Given the description of an element on the screen output the (x, y) to click on. 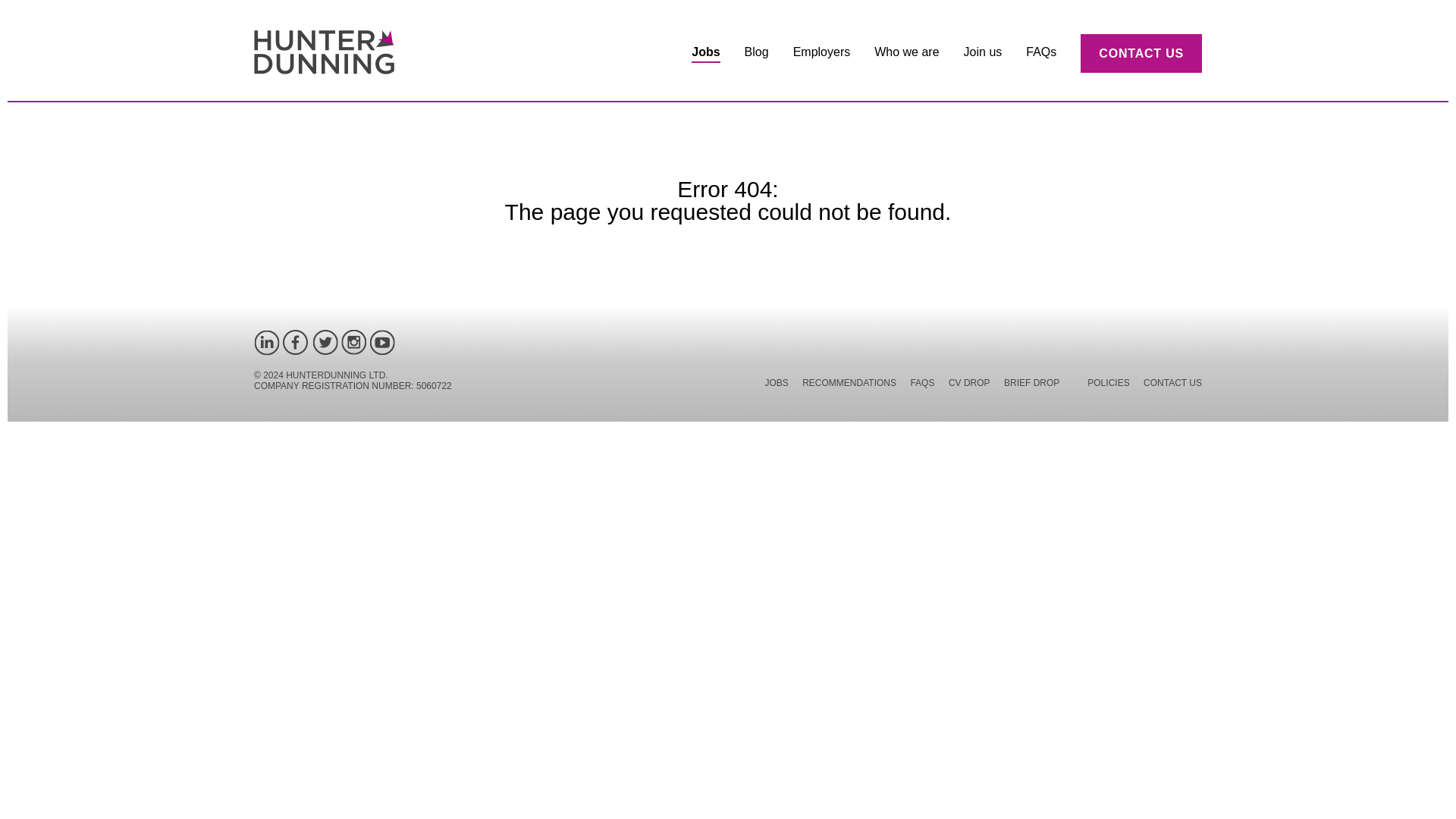
Who we are (907, 53)
CV DROP (969, 384)
Employers (821, 53)
RECOMMENDATIONS (849, 384)
BRIEF DROP (1031, 384)
Join us (983, 53)
POLICIES (1108, 384)
Blog (756, 53)
JOBS (775, 384)
CONTACT US (1141, 53)
Jobs (705, 53)
CONTACT US (1172, 384)
FAQs (1041, 53)
FAQS (922, 384)
